Given the description of an element on the screen output the (x, y) to click on. 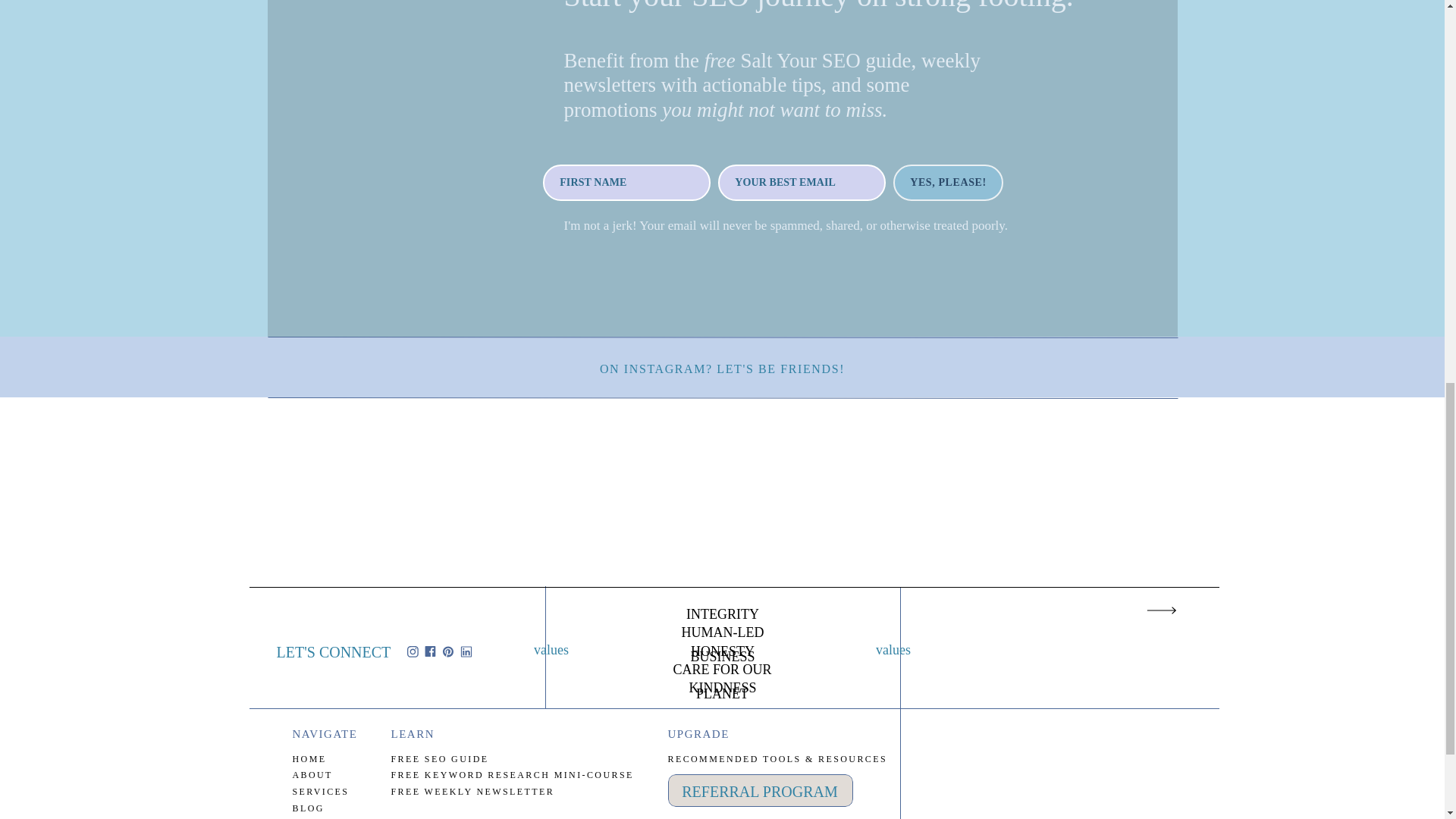
Facebook Copy-color Created with Sketch. (430, 651)
Instagram-color Created with Sketch. (412, 651)
REFERRAL PROGRAM (759, 789)
Instagram-color Created with Sketch. (412, 651)
FREE KEYWORD RESEARCH MINI-COURSE (516, 774)
ABOUT (335, 774)
Facebook Copy-color Created with Sketch. (430, 651)
HOME (335, 758)
BLOG (335, 807)
YES, PLEASE! (948, 182)
